Given the description of an element on the screen output the (x, y) to click on. 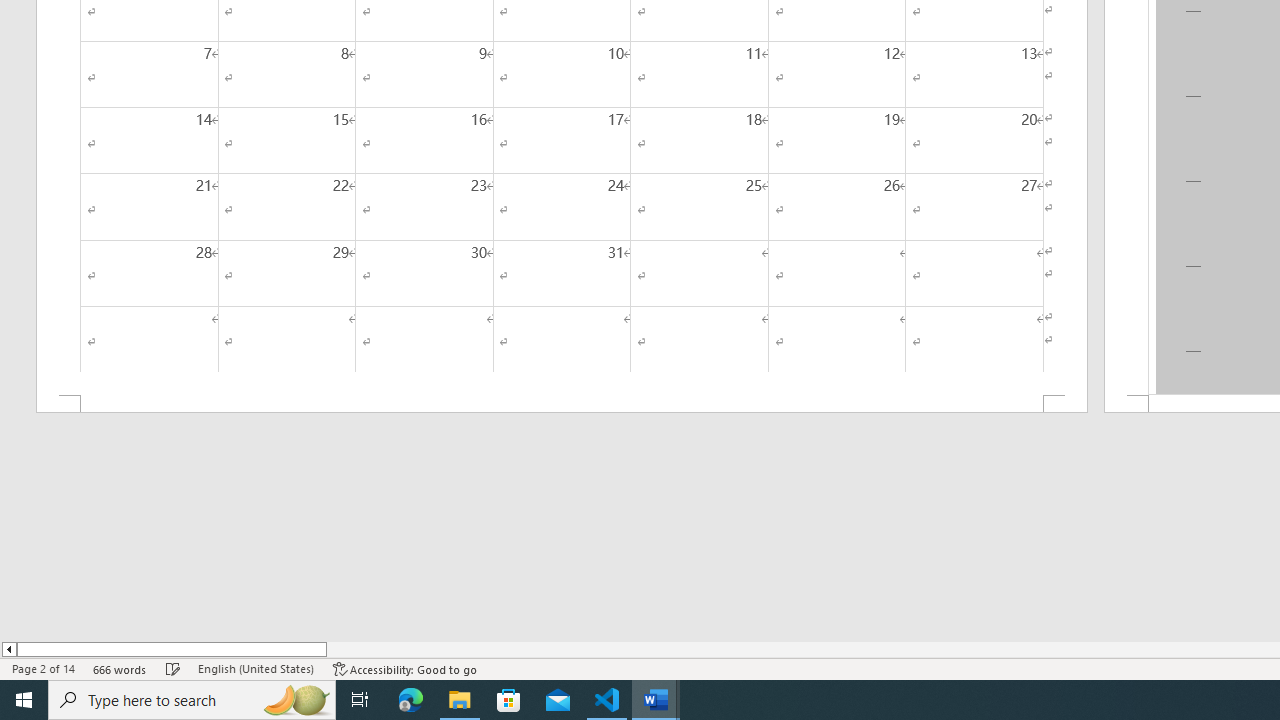
Column left (8, 649)
Footer -Section 1- (561, 404)
Language English (United States) (255, 668)
Accessibility Checker Accessibility: Good to go (405, 668)
Word Count 666 words (119, 668)
Page Number Page 2 of 14 (43, 668)
Spelling and Grammar Check Checking (173, 668)
